Given the description of an element on the screen output the (x, y) to click on. 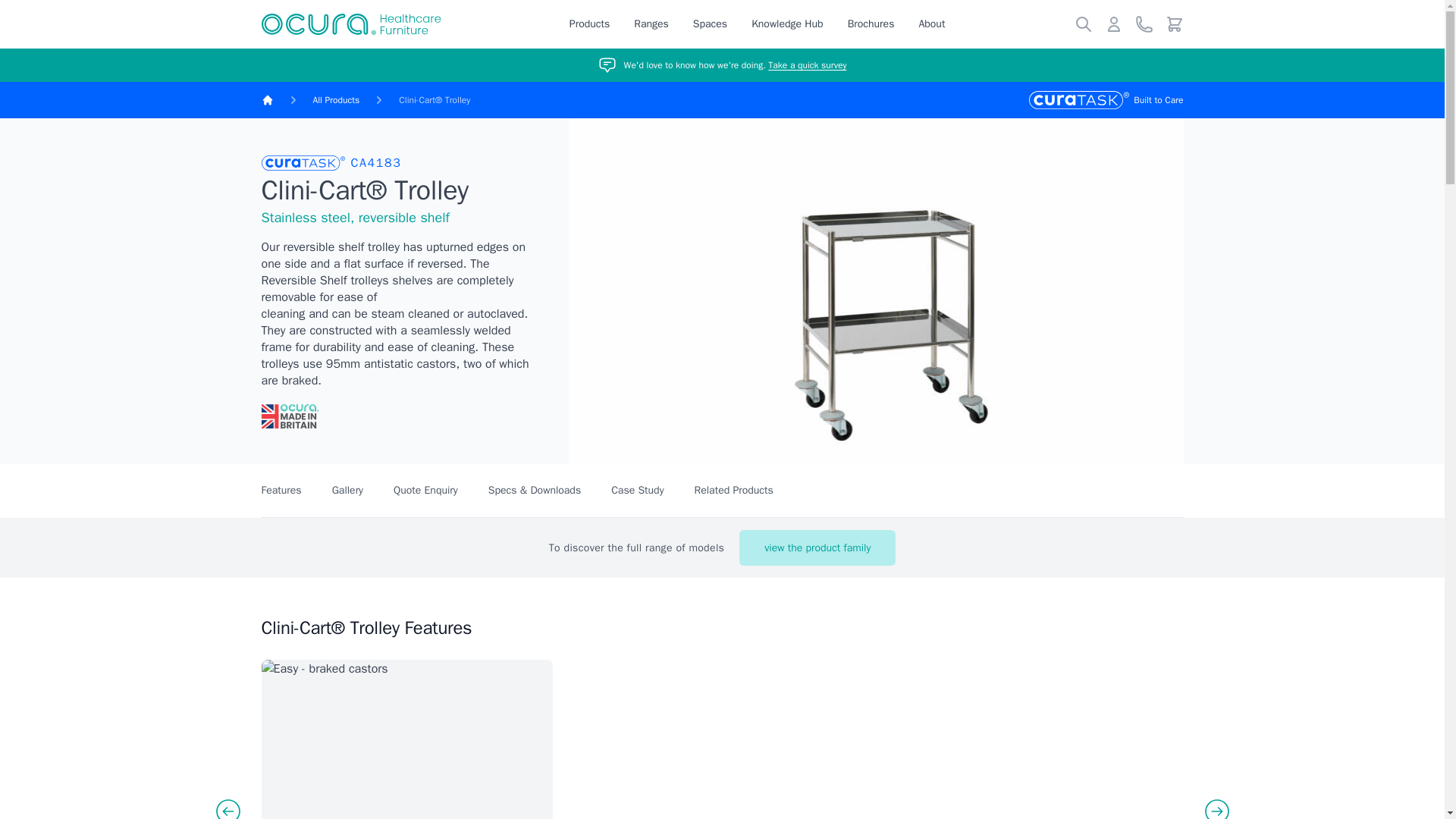
Search (1082, 24)
Ocura (349, 24)
Account (1112, 24)
items in cart, view bag (1173, 24)
Phone (1143, 24)
